Given the description of an element on the screen output the (x, y) to click on. 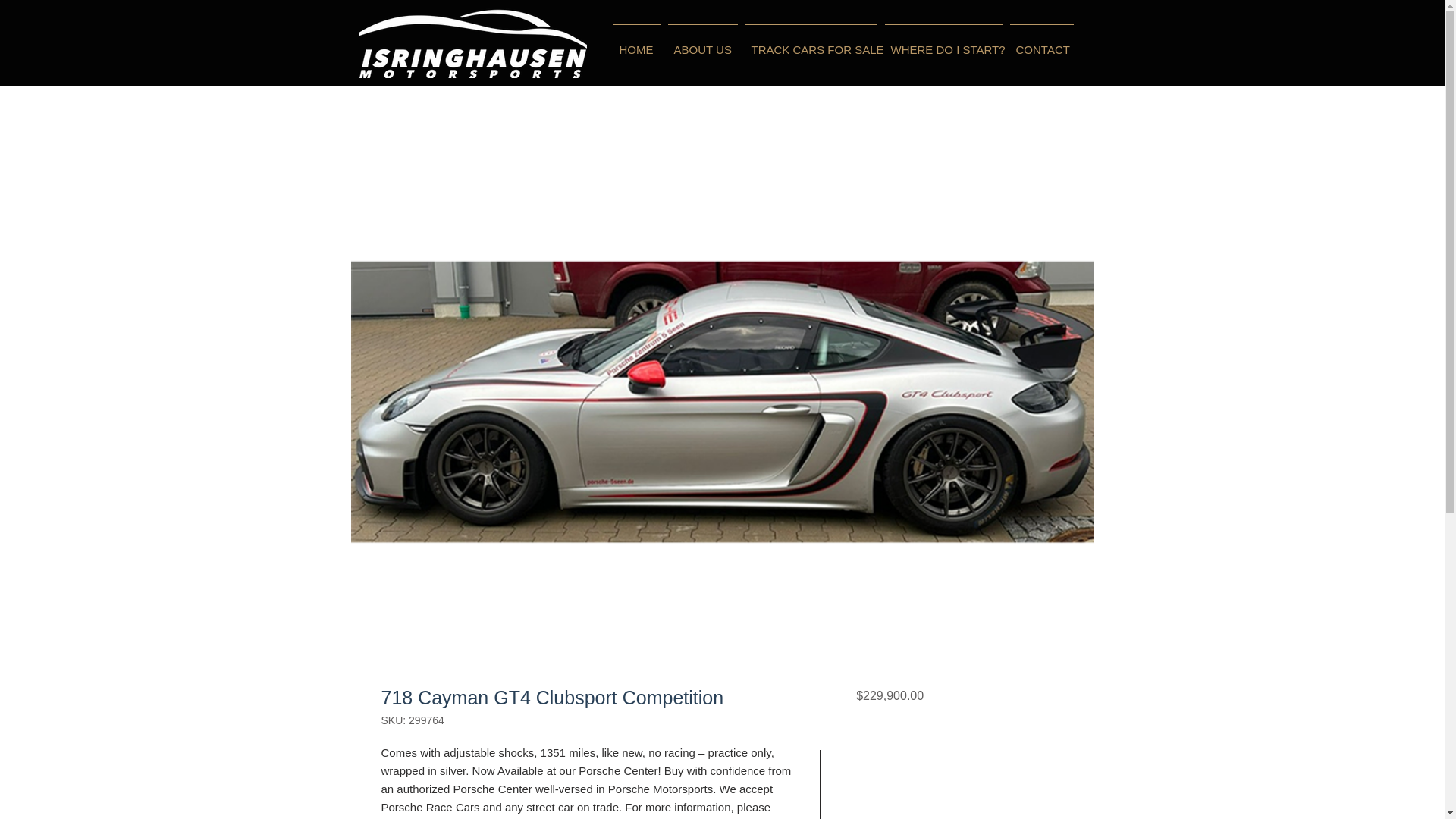
TRACK CARS FOR SALE (810, 43)
HOME (635, 43)
ABOUT US (702, 43)
WHERE DO I START? (943, 43)
CONTACT (1041, 43)
